Given the description of an element on the screen output the (x, y) to click on. 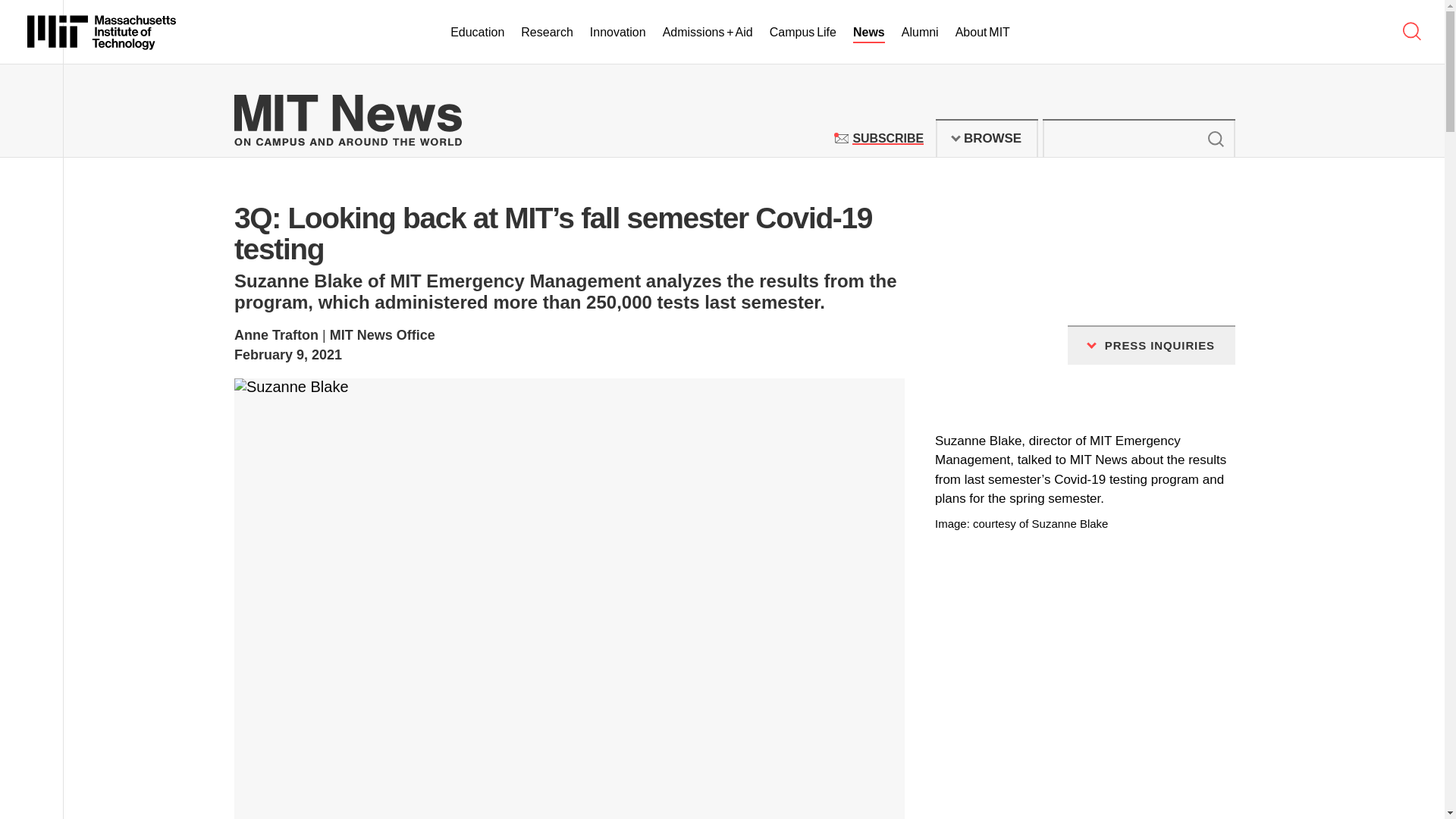
BROWSE (887, 137)
Campus Life (987, 138)
Submit (802, 32)
Massachusetts Institute of Technology (1214, 138)
